Given the description of an element on the screen output the (x, y) to click on. 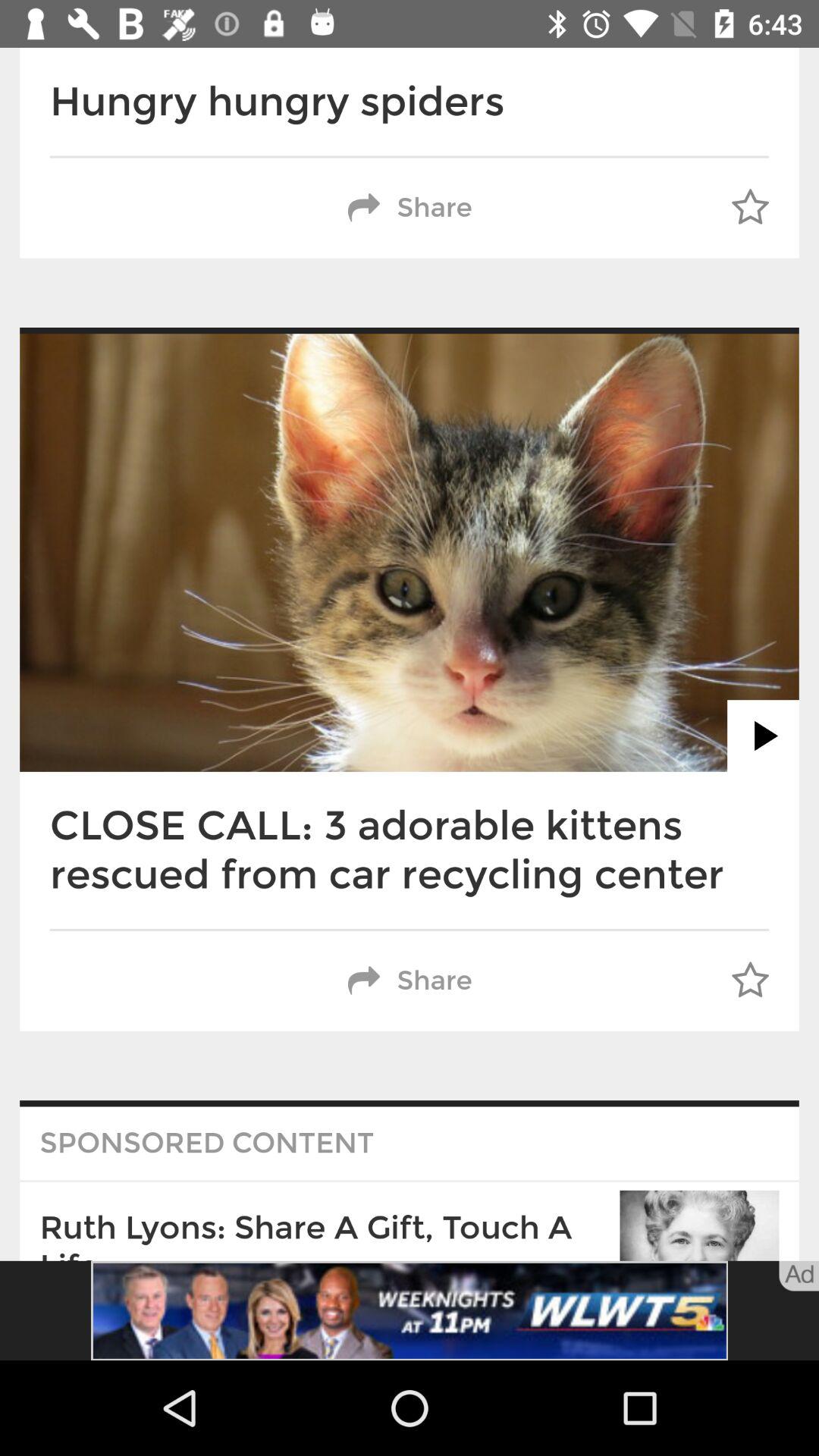
advertisement (409, 1310)
